Given the description of an element on the screen output the (x, y) to click on. 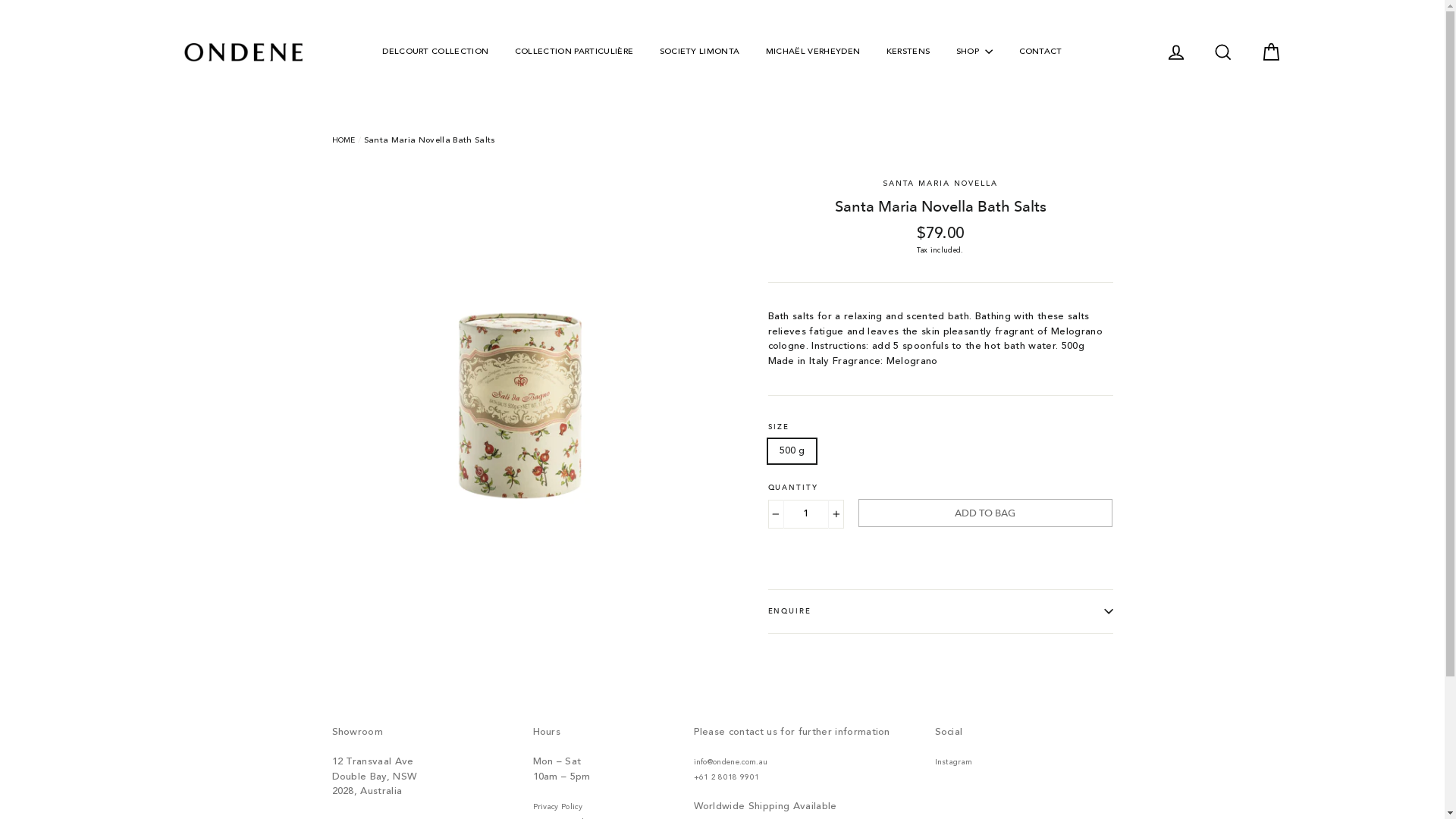
SHOP Element type: text (974, 52)
SANTA MARIA NOVELLA Element type: text (939, 182)
HOME Element type: text (343, 140)
+61 2 8018 9901 Element type: text (726, 777)
+ Element type: text (836, 513)
Privacy Policy Element type: text (557, 806)
Skip to content Element type: text (0, 0)
KERSTENS Element type: text (908, 52)
ADD TO BAG Element type: text (985, 512)
Instagram Element type: text (953, 761)
CONTACT Element type: text (1040, 52)
Log in Element type: text (1176, 51)
DELCOURT COLLECTION Element type: text (434, 52)
SOCIETY LIMONTA Element type: text (699, 52)
info@ondene.com.au Element type: text (730, 761)
Cart Element type: text (1270, 51)
ENQUIRE Element type: text (939, 611)
Search Element type: text (1223, 51)
